Given the description of an element on the screen output the (x, y) to click on. 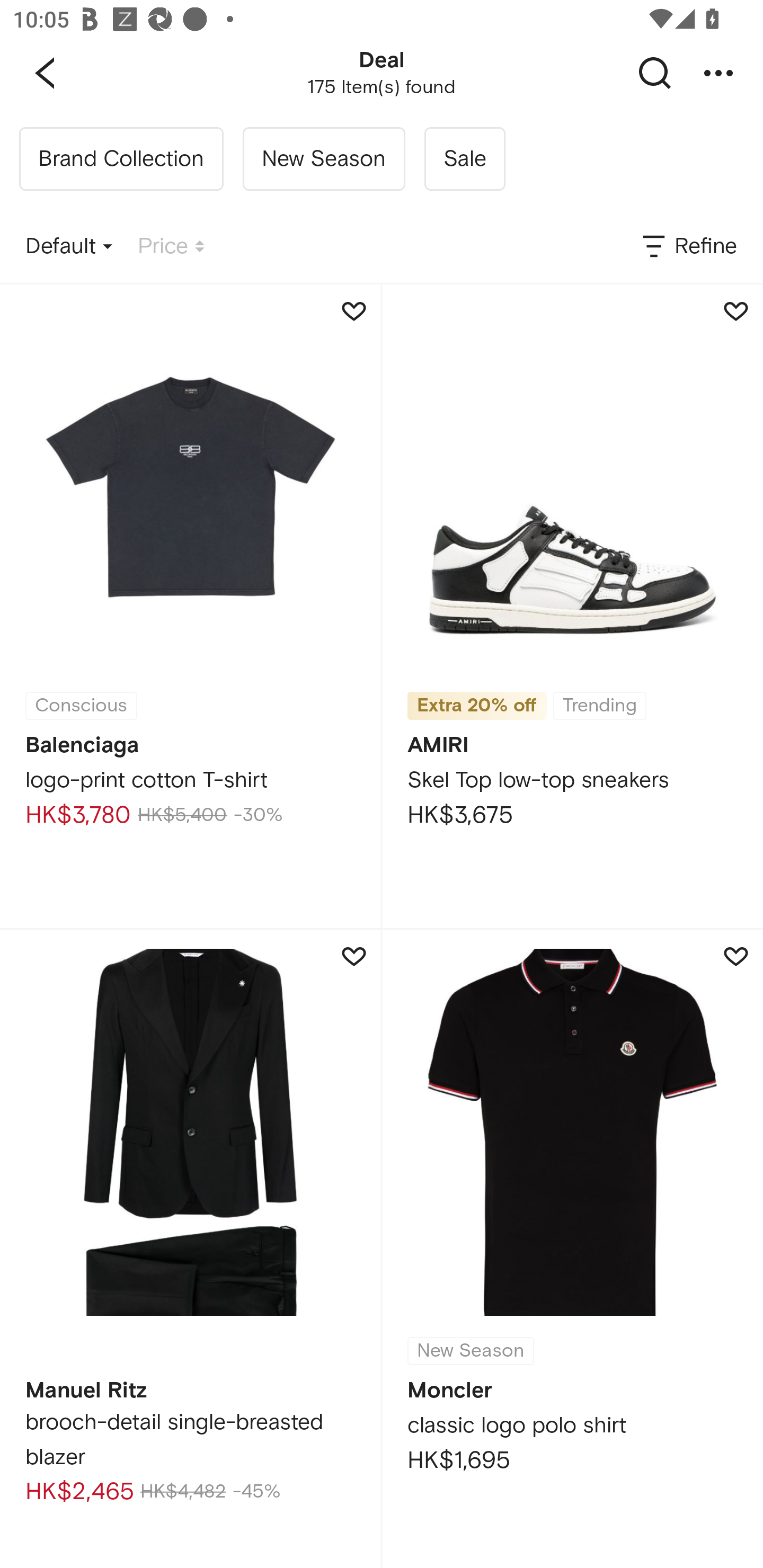
Brand Collection (121, 158)
New Season (323, 158)
Sale (464, 158)
Default (68, 246)
Price (171, 246)
Refine (688, 246)
Extra 20% off (477, 705)
